Given the description of an element on the screen output the (x, y) to click on. 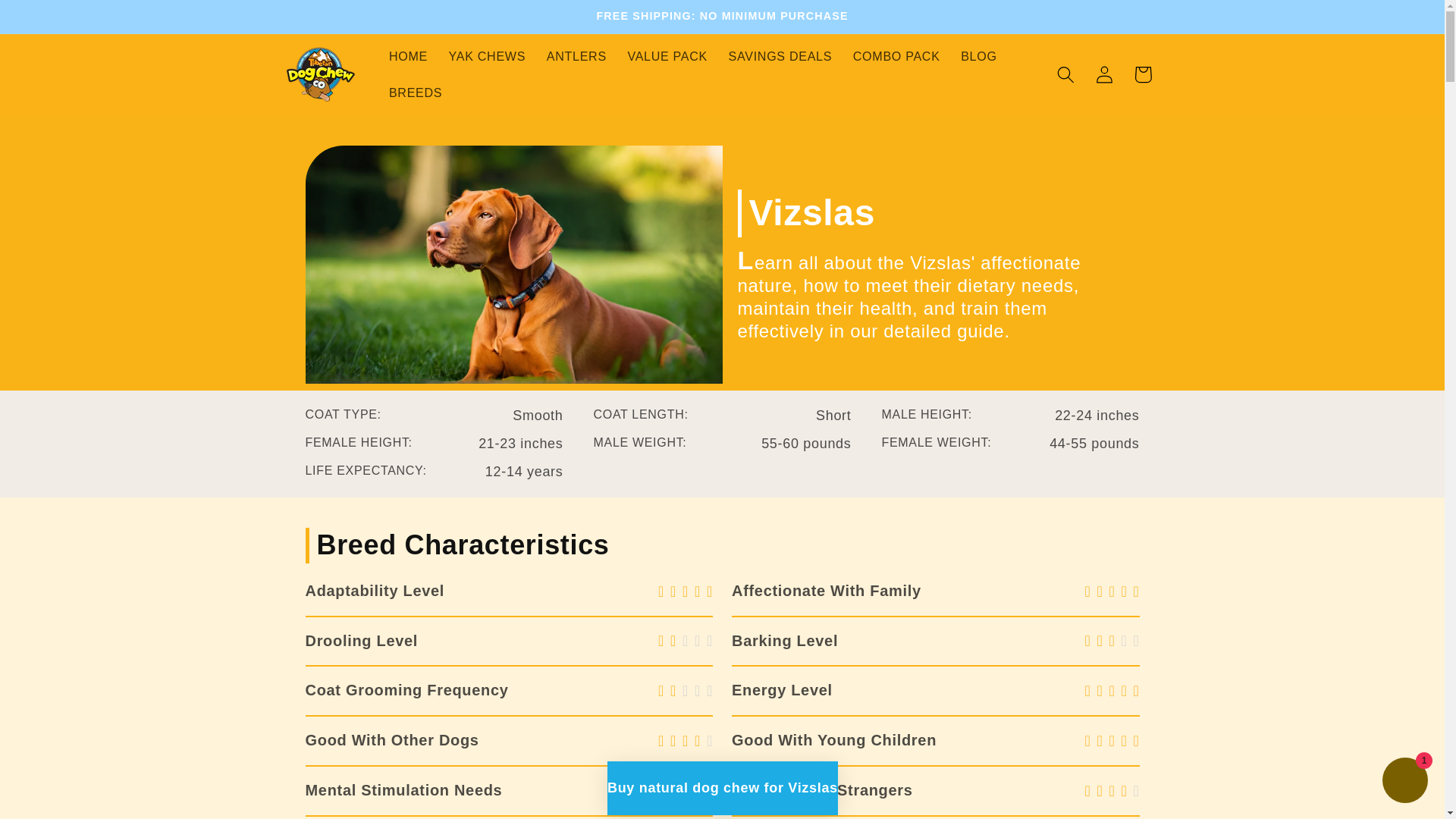
HOME (408, 55)
ANTLERS (576, 55)
Buy natural dog chew for Vizslas (722, 787)
Skip to content (52, 20)
BLOG (978, 55)
BREEDS (415, 92)
VALUE PACK (667, 55)
YAK CHEWS (486, 55)
SAVINGS DEALS (780, 55)
Cart (1142, 74)
Log in (1104, 74)
Shopify online store chat (1404, 781)
COMBO PACK (896, 55)
